Given the description of an element on the screen output the (x, y) to click on. 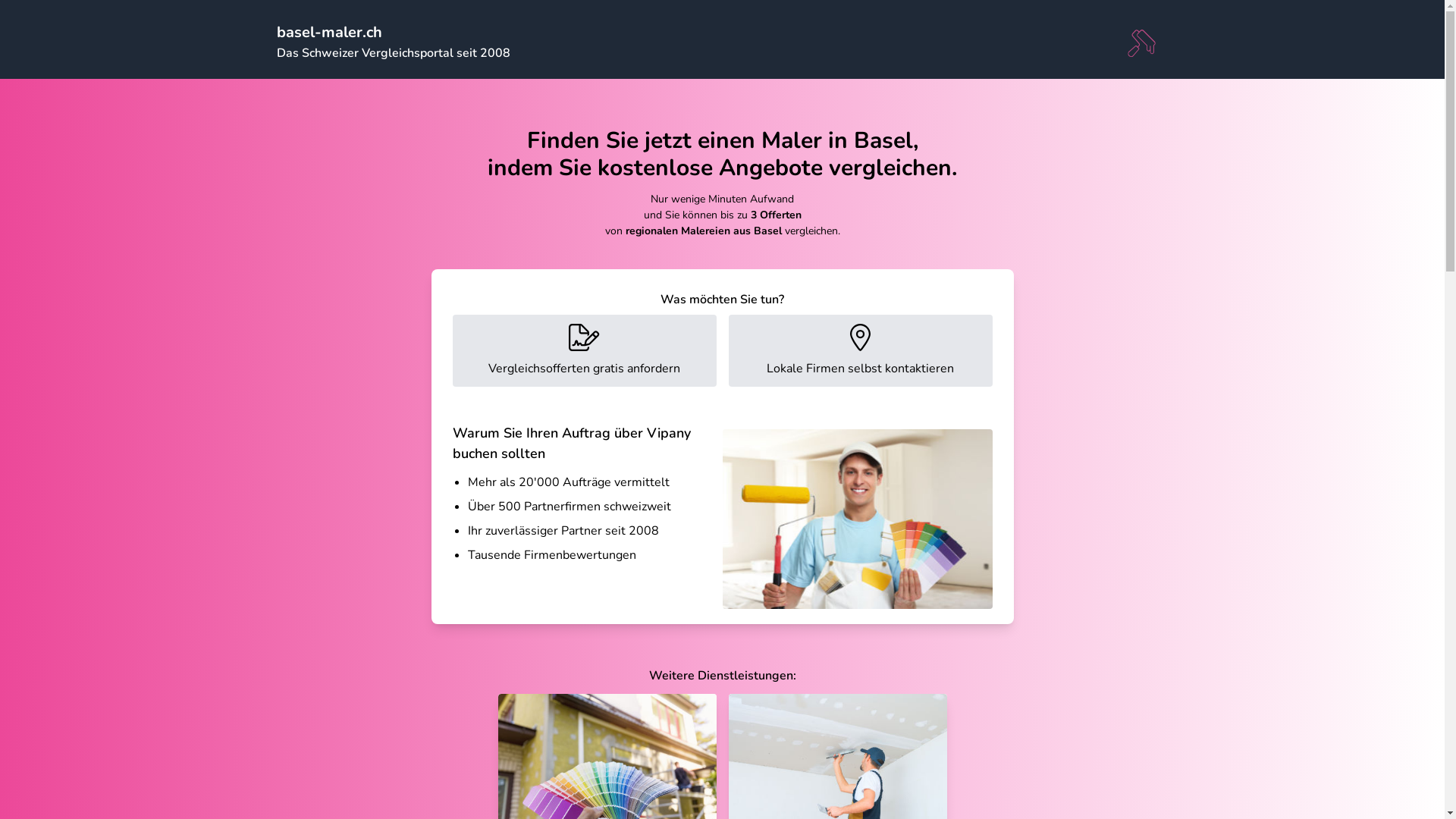
basel-maler.ch Element type: text (328, 31)
